Given the description of an element on the screen output the (x, y) to click on. 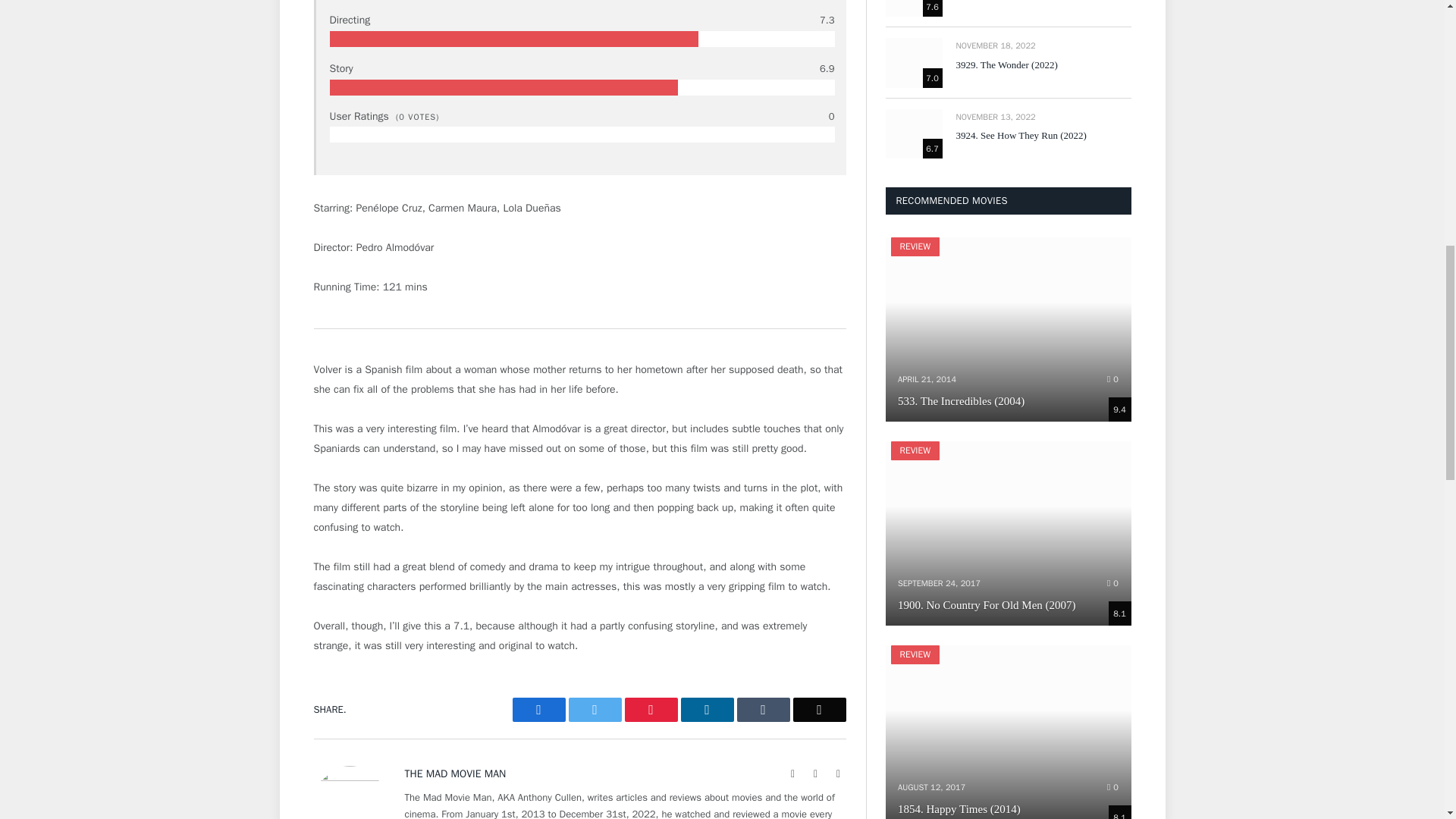
Share on LinkedIn (707, 709)
Website (793, 774)
Share on Tumblr (763, 709)
Share on Facebook (539, 709)
Share on Pinterest (651, 709)
Share via Email (819, 709)
Posts by The Mad Movie Man (455, 773)
Facebook (816, 774)
Share on Twitter (595, 709)
